Given the description of an element on the screen output the (x, y) to click on. 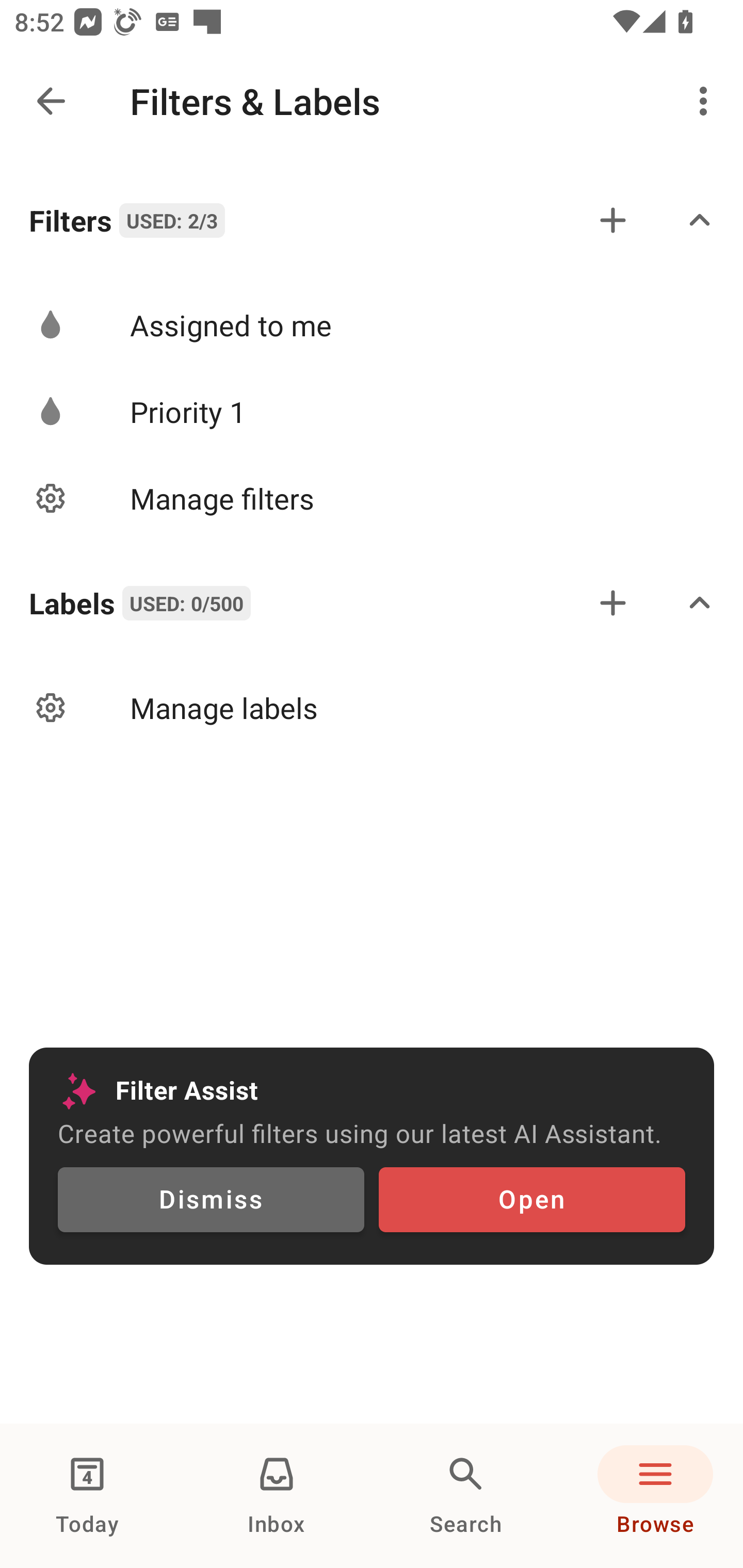
Navigate up Filters & Labels More options (371, 100)
Navigate up (50, 101)
More options (706, 101)
Filters USED: 2/3 Add Expand/collapse (371, 220)
Add (612, 220)
Assigned to me (371, 325)
Priority 1 (371, 411)
Manage filters (371, 497)
Labels USED: 0/500 Add Expand/collapse (371, 602)
Add (612, 602)
Manage labels (371, 707)
Dismiss (210, 1200)
Open (531, 1200)
Today (87, 1495)
Inbox (276, 1495)
Search (465, 1495)
